Given the description of an element on the screen output the (x, y) to click on. 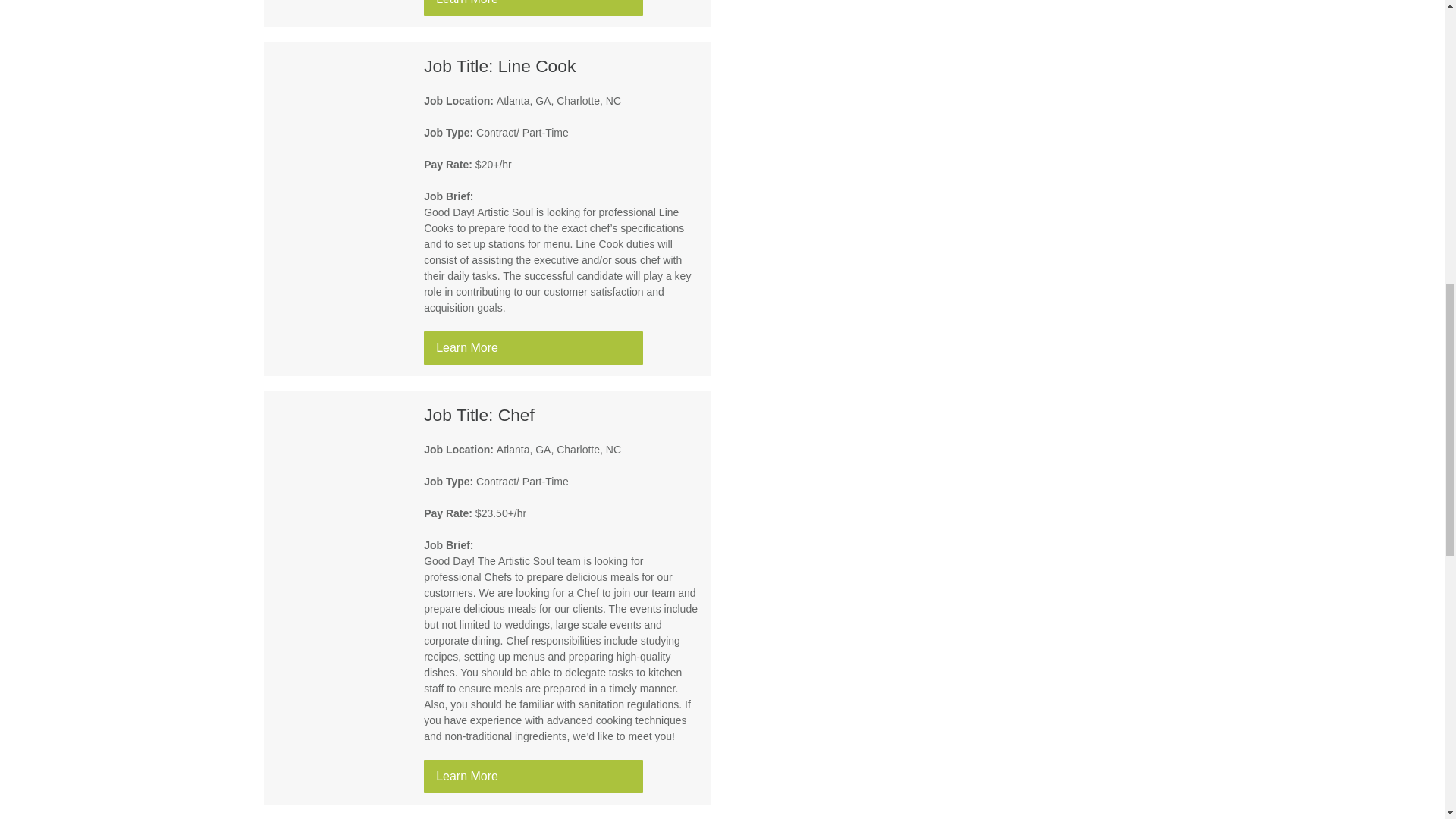
Learn More (533, 776)
Learn More (533, 7)
Learn More (533, 347)
